Given the description of an element on the screen output the (x, y) to click on. 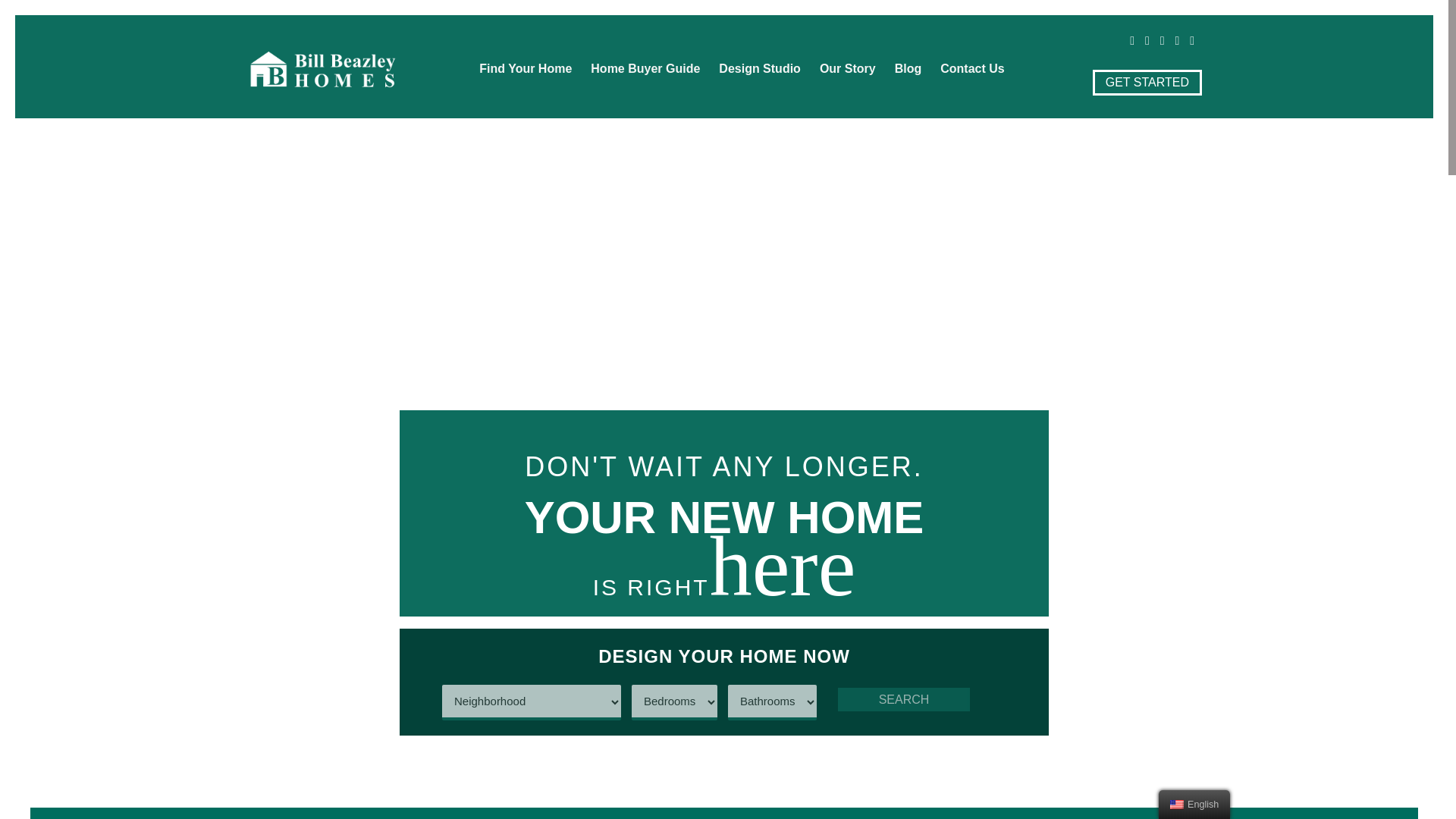
GET STARTED (1147, 82)
Contact Us (972, 69)
Bill Beazley Homes Logo White (322, 68)
Our Story (847, 69)
Home Buyer Guide (644, 69)
Find Your Home (525, 69)
SEARCH (903, 699)
Design Studio (759, 69)
Blog (908, 69)
